Given the description of an element on the screen output the (x, y) to click on. 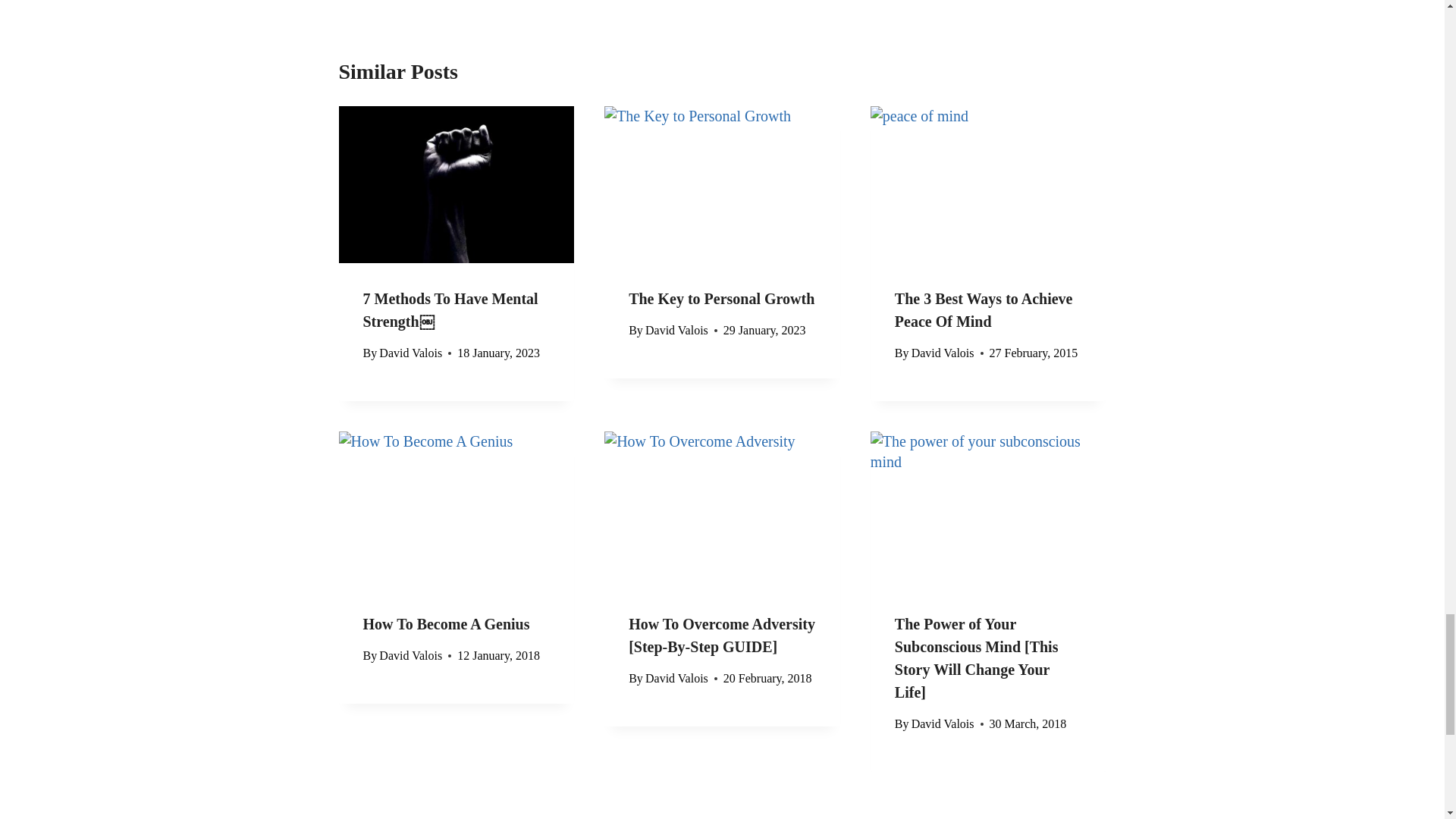
David Valois (410, 352)
David Valois (676, 677)
David Valois (942, 352)
The Key to Personal Growth (720, 298)
How To Become A Genius (445, 623)
The 3 Best Ways to Achieve Peace Of Mind (984, 310)
David Valois (410, 655)
David Valois (676, 329)
